Given the description of an element on the screen output the (x, y) to click on. 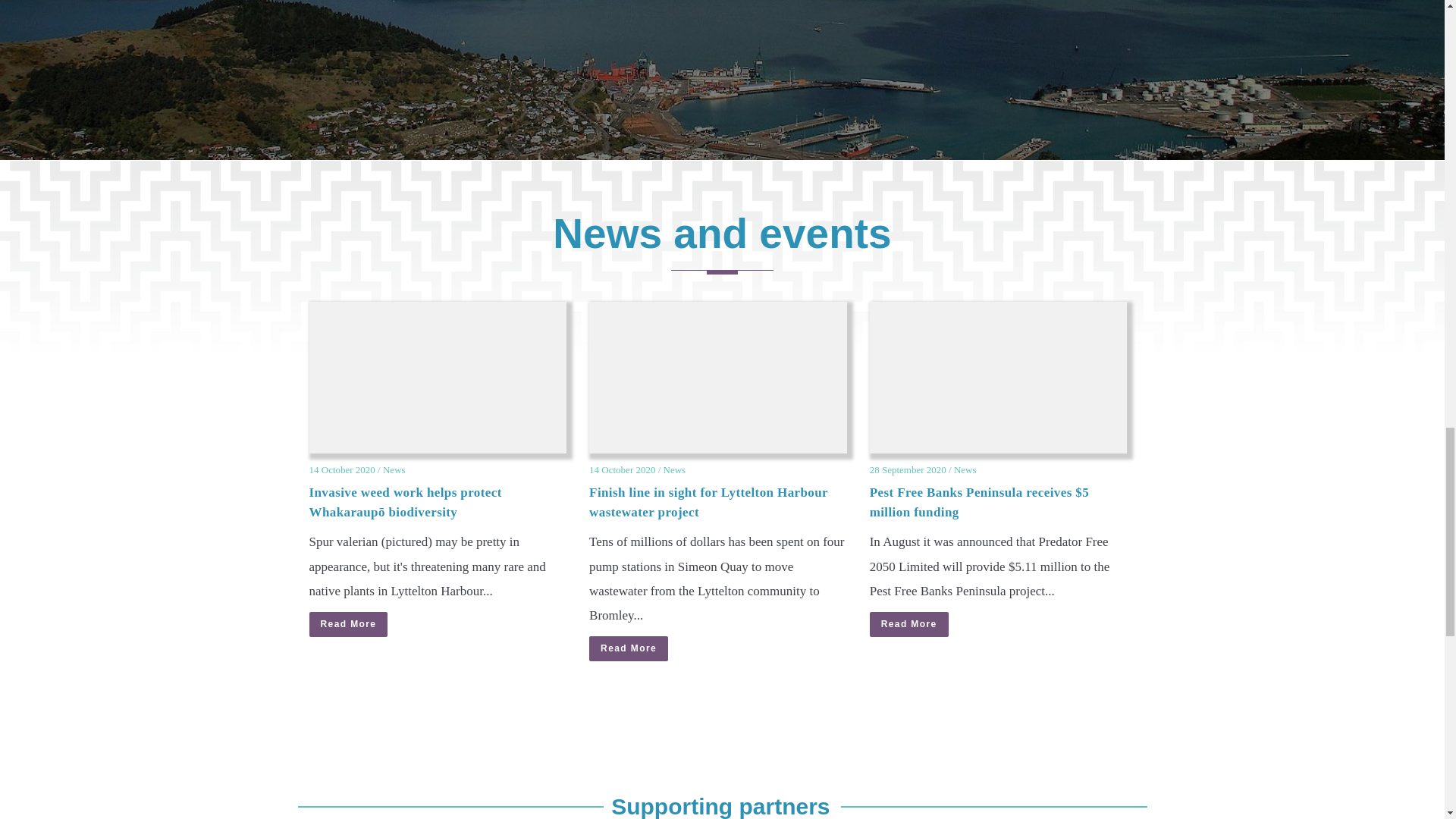
News (394, 469)
Read More (348, 624)
News (674, 469)
